Given the description of an element on the screen output the (x, y) to click on. 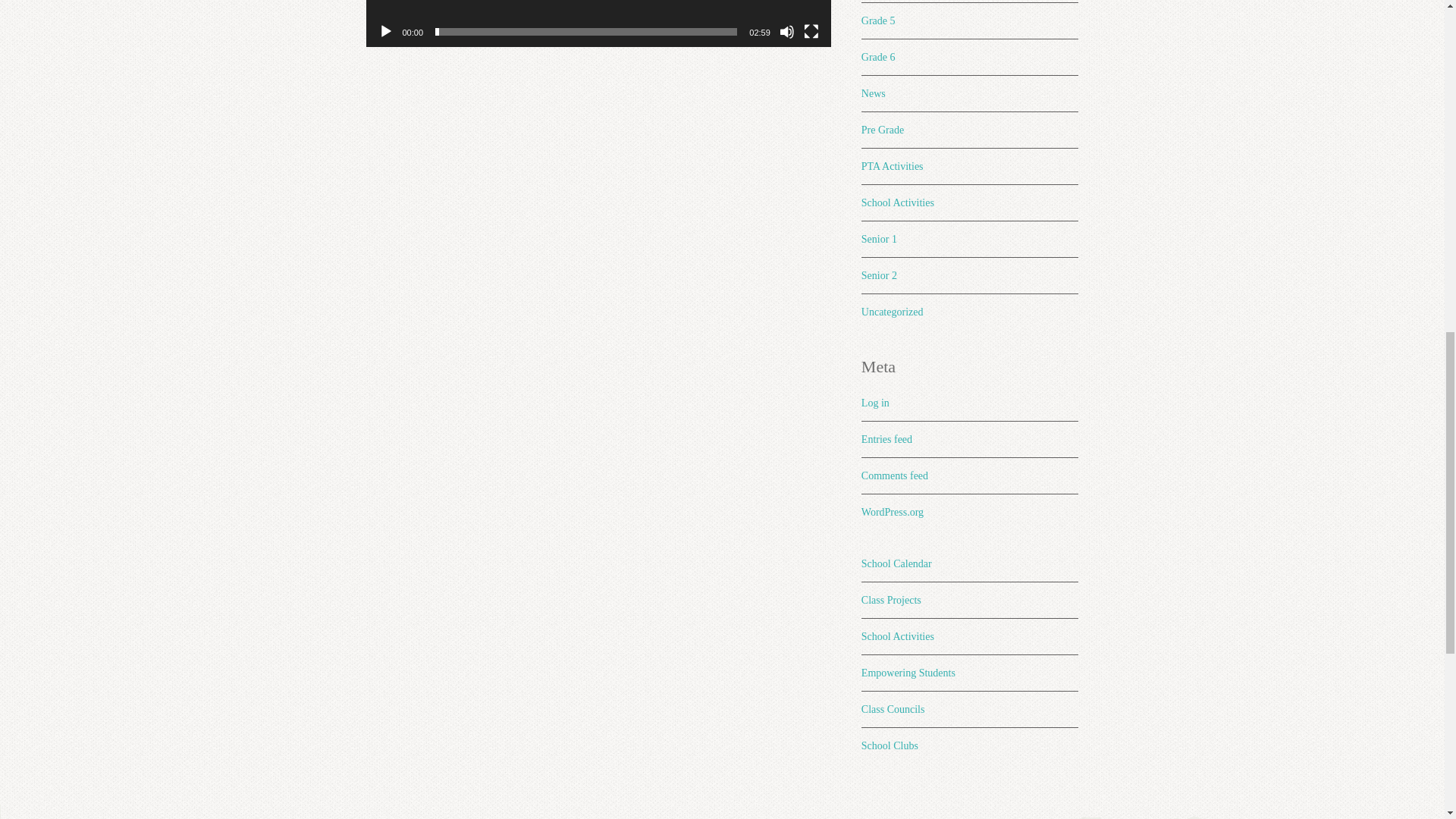
Grade 5 (878, 20)
Play (385, 31)
Mute (786, 31)
News (873, 93)
Grade 6 (878, 57)
PTA Activities (892, 165)
Pre Grade (882, 129)
Fullscreen (810, 31)
School Activities (897, 202)
